Given the description of an element on the screen output the (x, y) to click on. 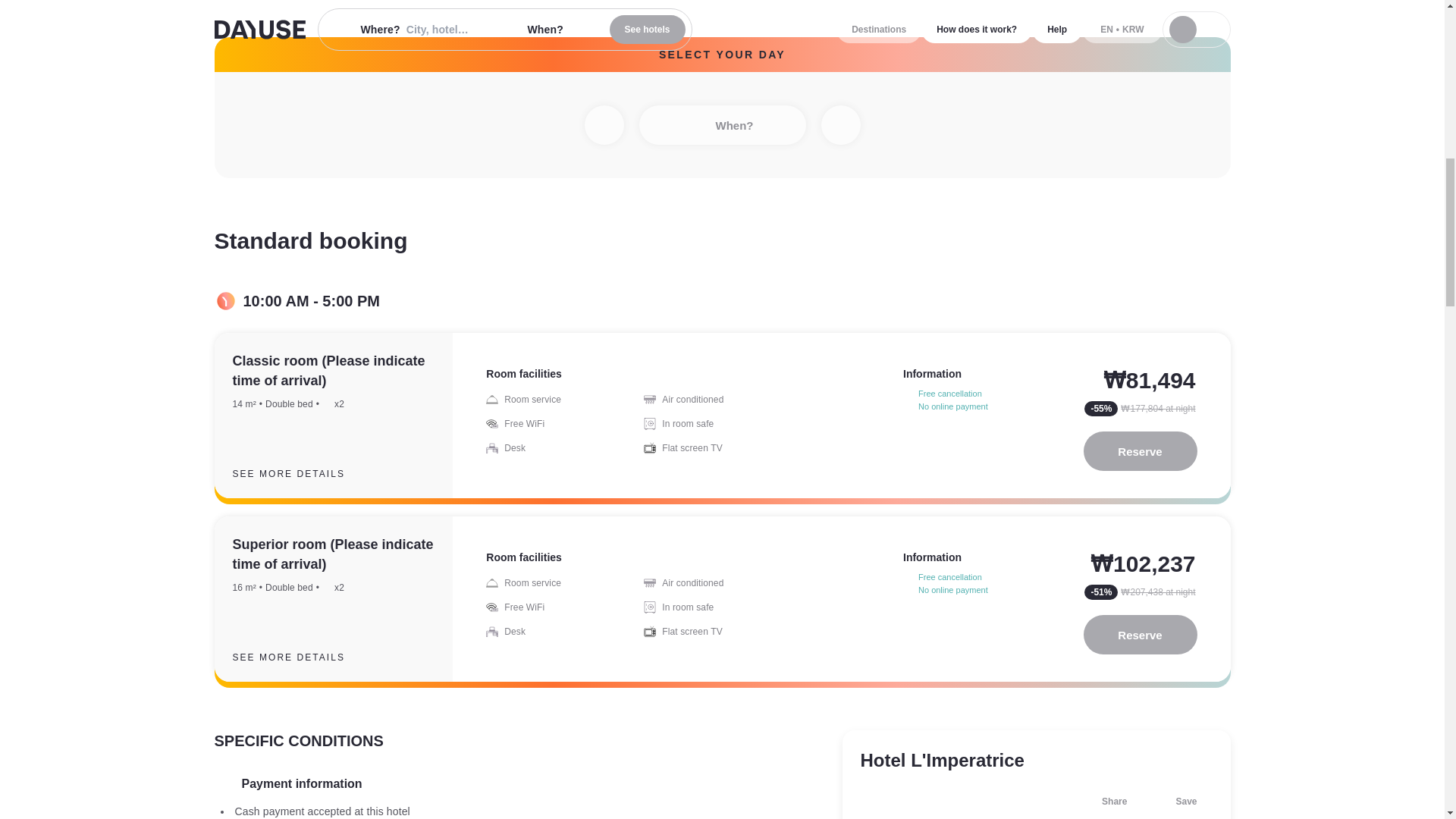
Reserve (1139, 450)
Previous day (603, 124)
When? (722, 124)
SEE MORE DETAILS (300, 657)
Reserve (1139, 634)
SEE MORE DETAILS (300, 474)
Next day (840, 124)
